Given the description of an element on the screen output the (x, y) to click on. 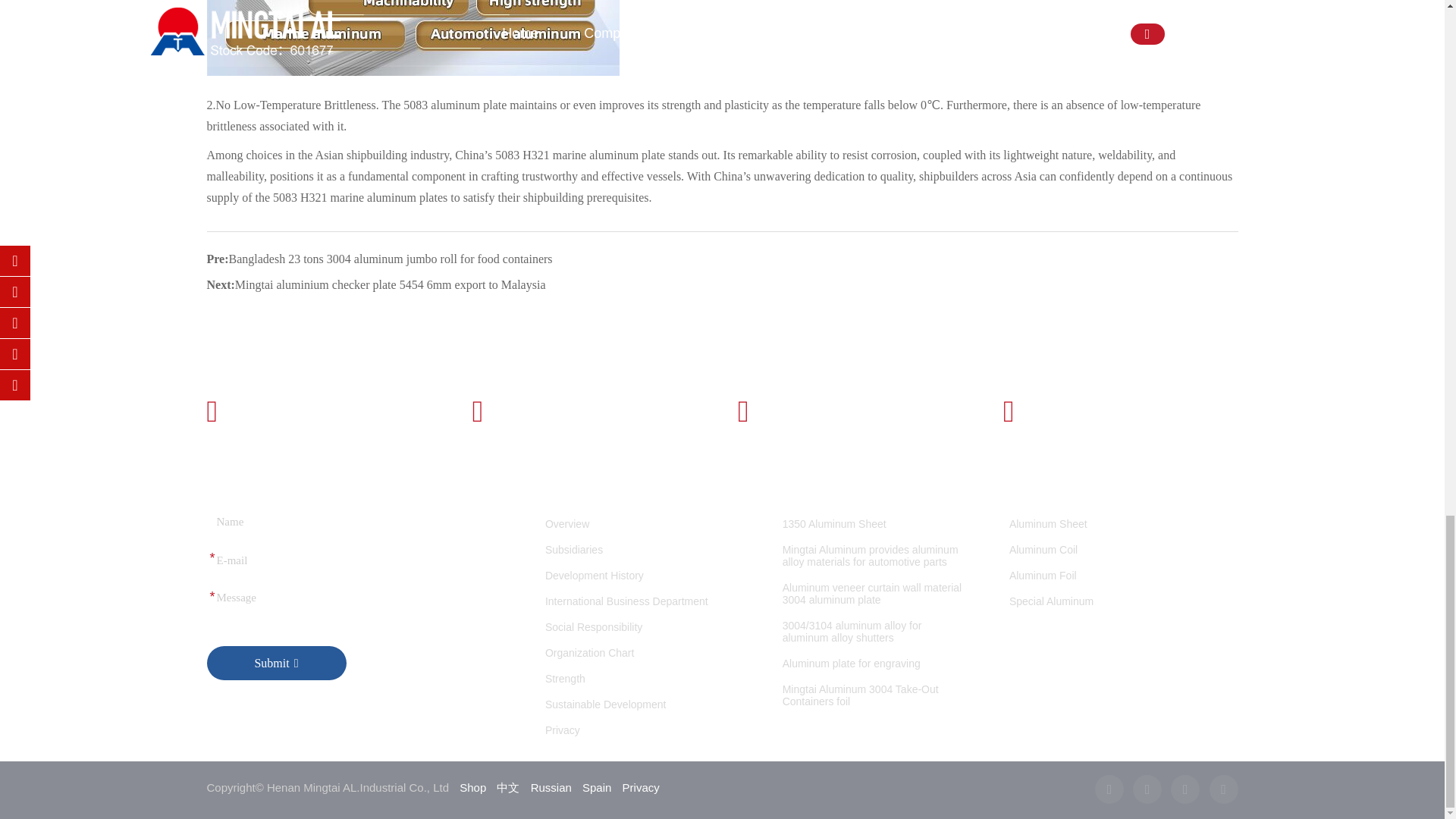
tiktok (1146, 788)
facebook (1109, 788)
linkedin (1184, 788)
youtube (1222, 788)
